Given the description of an element on the screen output the (x, y) to click on. 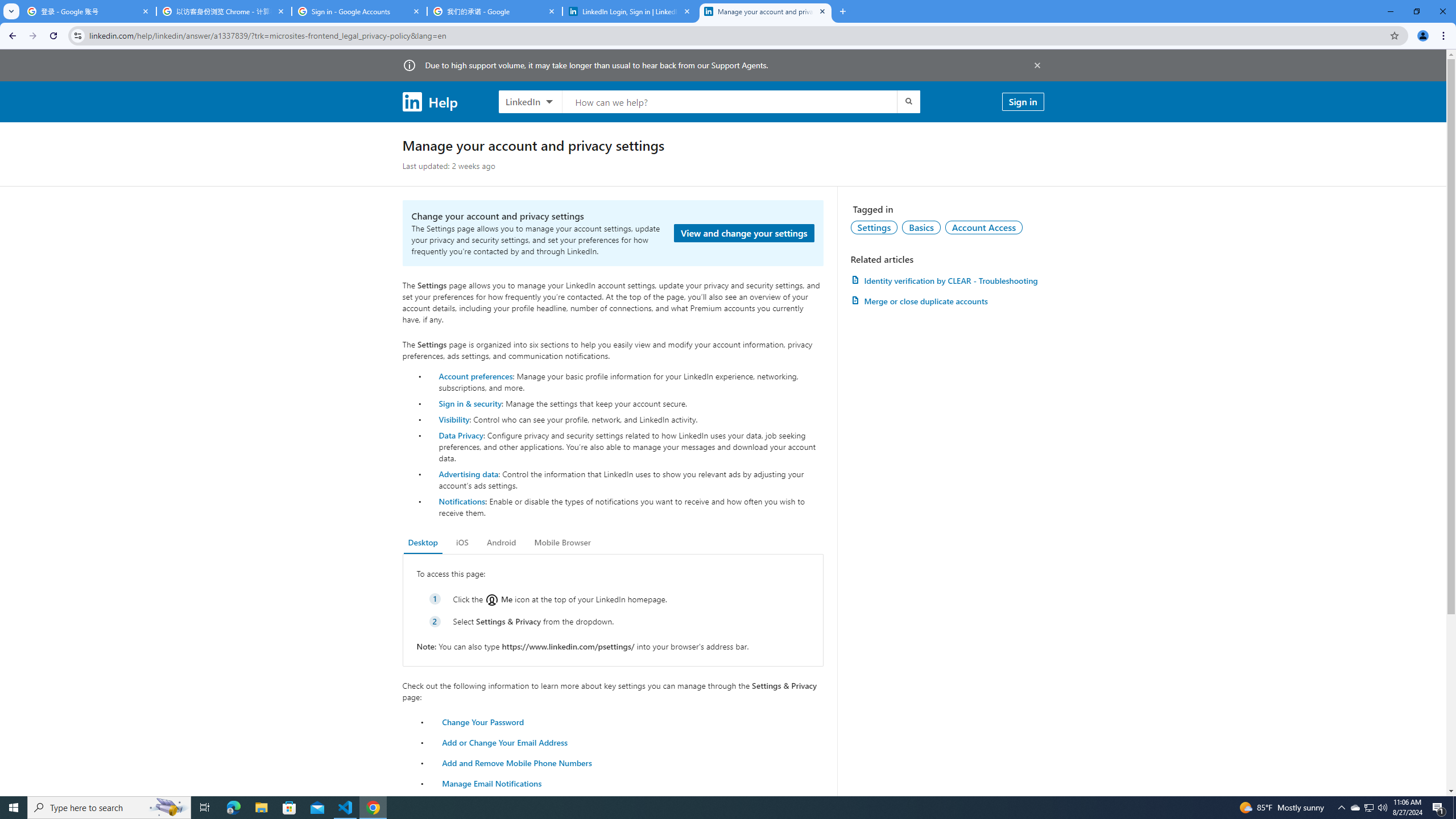
Identity verification by CLEAR - Troubleshooting (946, 280)
Data Privacy (460, 434)
Sign in - Google Accounts (359, 11)
AutomationID: topic-link-a51 (921, 227)
AutomationID: article-link-a1337200 (946, 300)
View and change your settings (743, 232)
LinkedIn Login, Sign in | LinkedIn (630, 11)
Add or Change Your Email Address (504, 741)
Mobile Browser (562, 542)
